Given the description of an element on the screen output the (x, y) to click on. 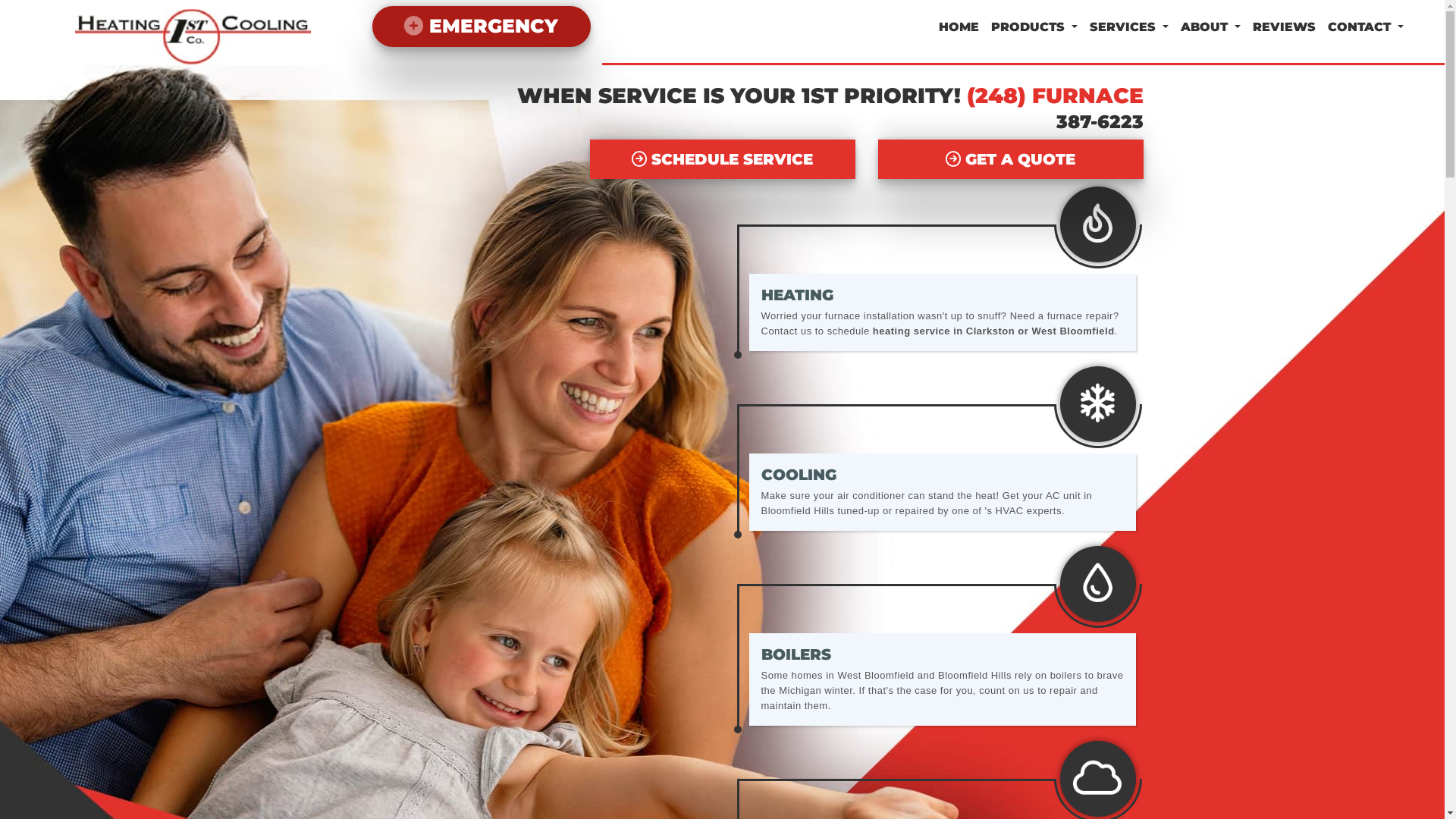
(248) FURNACE Element type: text (1054, 95)
EMERGENCY Element type: text (480, 26)
387-6223 Element type: text (722, 122)
SCHEDULE SERVICE Element type: text (722, 158)
CONTACT Element type: text (1365, 27)
HOME Element type: text (958, 27)
SERVICES Element type: text (1128, 27)
GET A QUOTE Element type: text (1010, 158)
REVIEWS Element type: text (1283, 27)
PRODUCTS Element type: text (1034, 27)
ABOUT Element type: text (1210, 27)
